Given the description of an element on the screen output the (x, y) to click on. 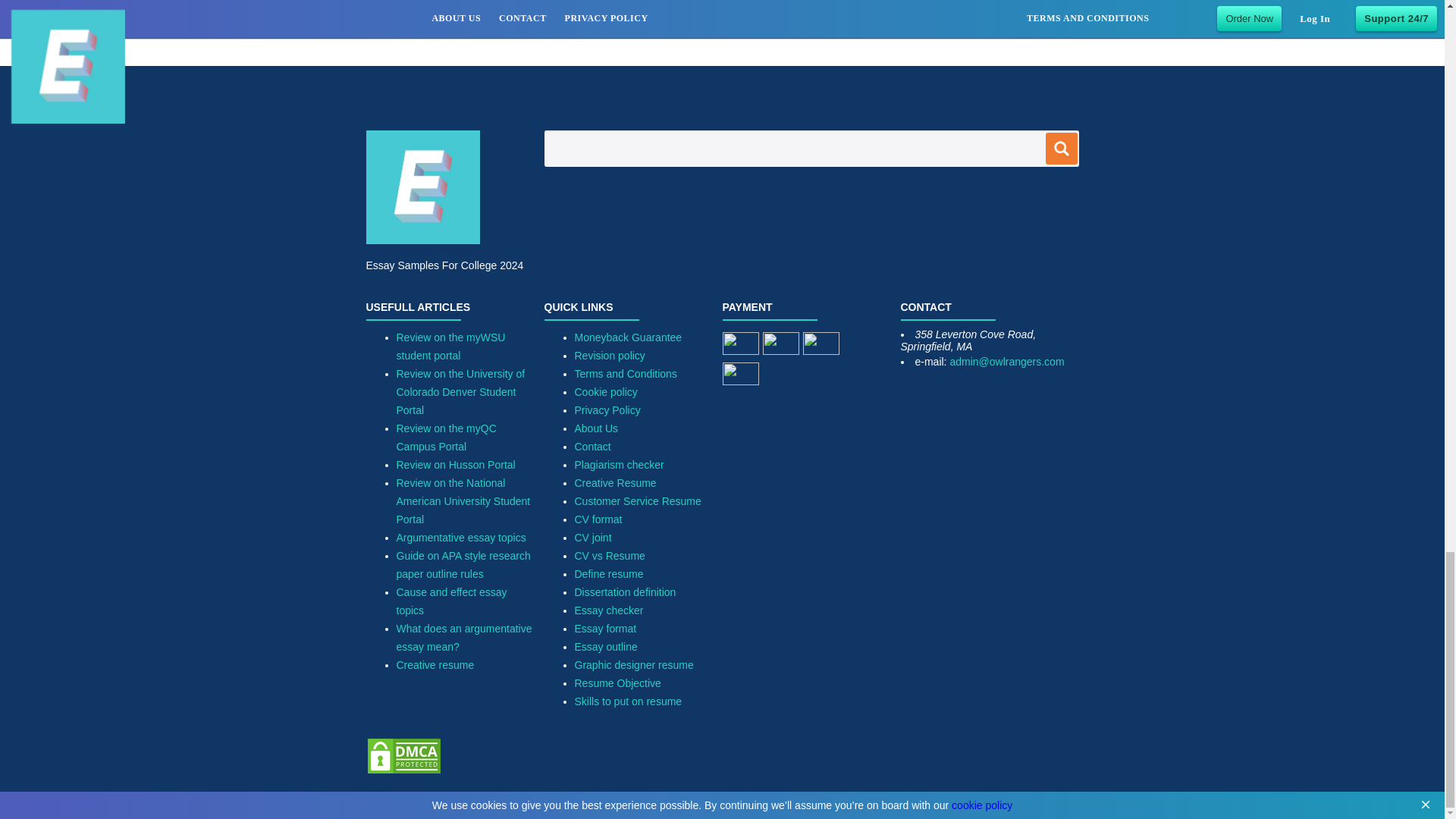
Content Protection by DMCA.com (403, 770)
